Given the description of an element on the screen output the (x, y) to click on. 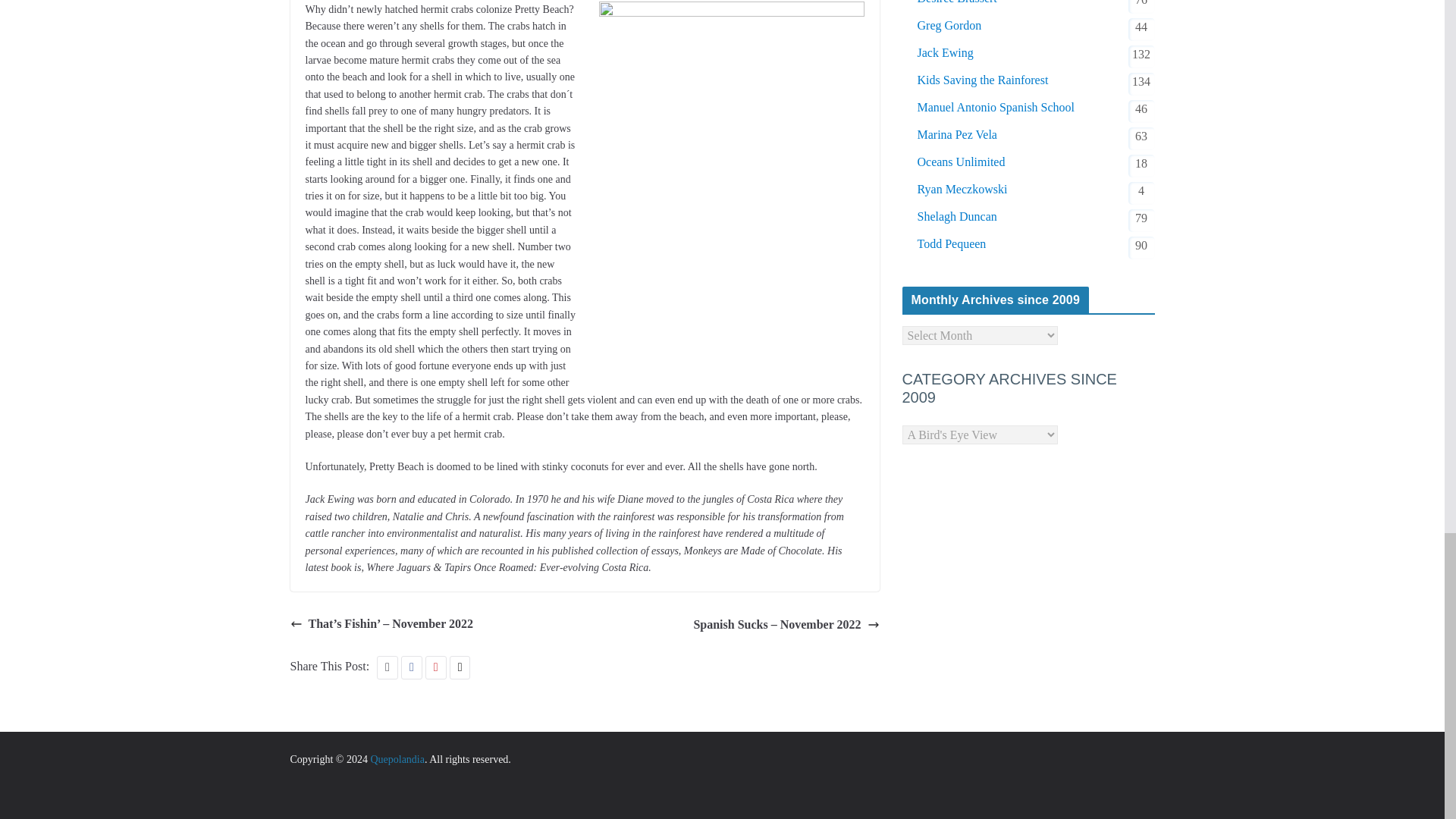
Oceans Unlimited (961, 162)
Quepolandia (397, 758)
Desiree Brassert (957, 3)
Manuel Antonio Spanish School (996, 107)
Jack Ewing (945, 53)
Marina Pez Vela (957, 135)
Greg Gordon (949, 25)
Kids Saving the Rainforest (982, 80)
